Given the description of an element on the screen output the (x, y) to click on. 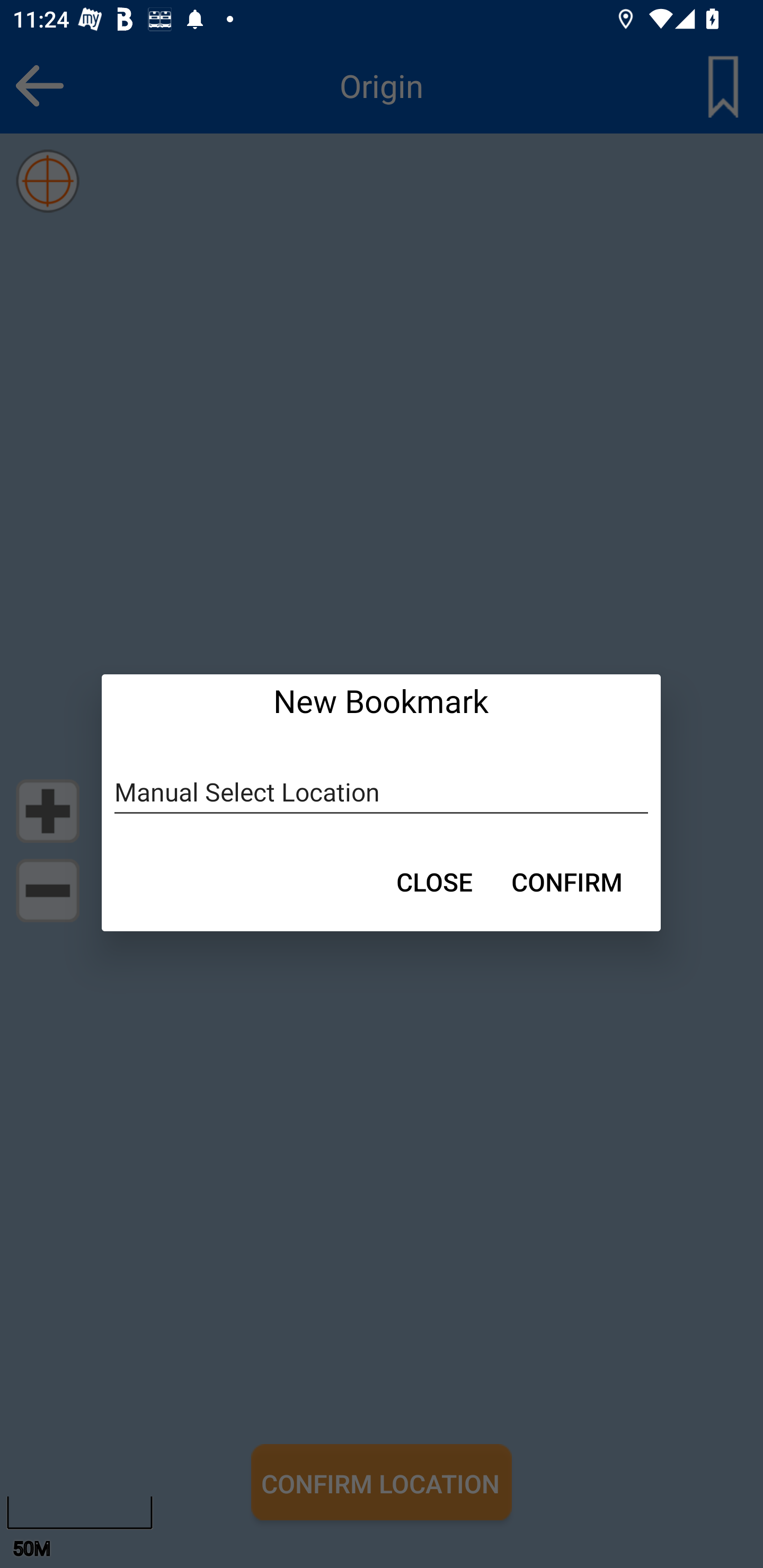
Manual Select Location (381, 792)
CLOSE (434, 881)
CONFIRM (566, 881)
